Given the description of an element on the screen output the (x, y) to click on. 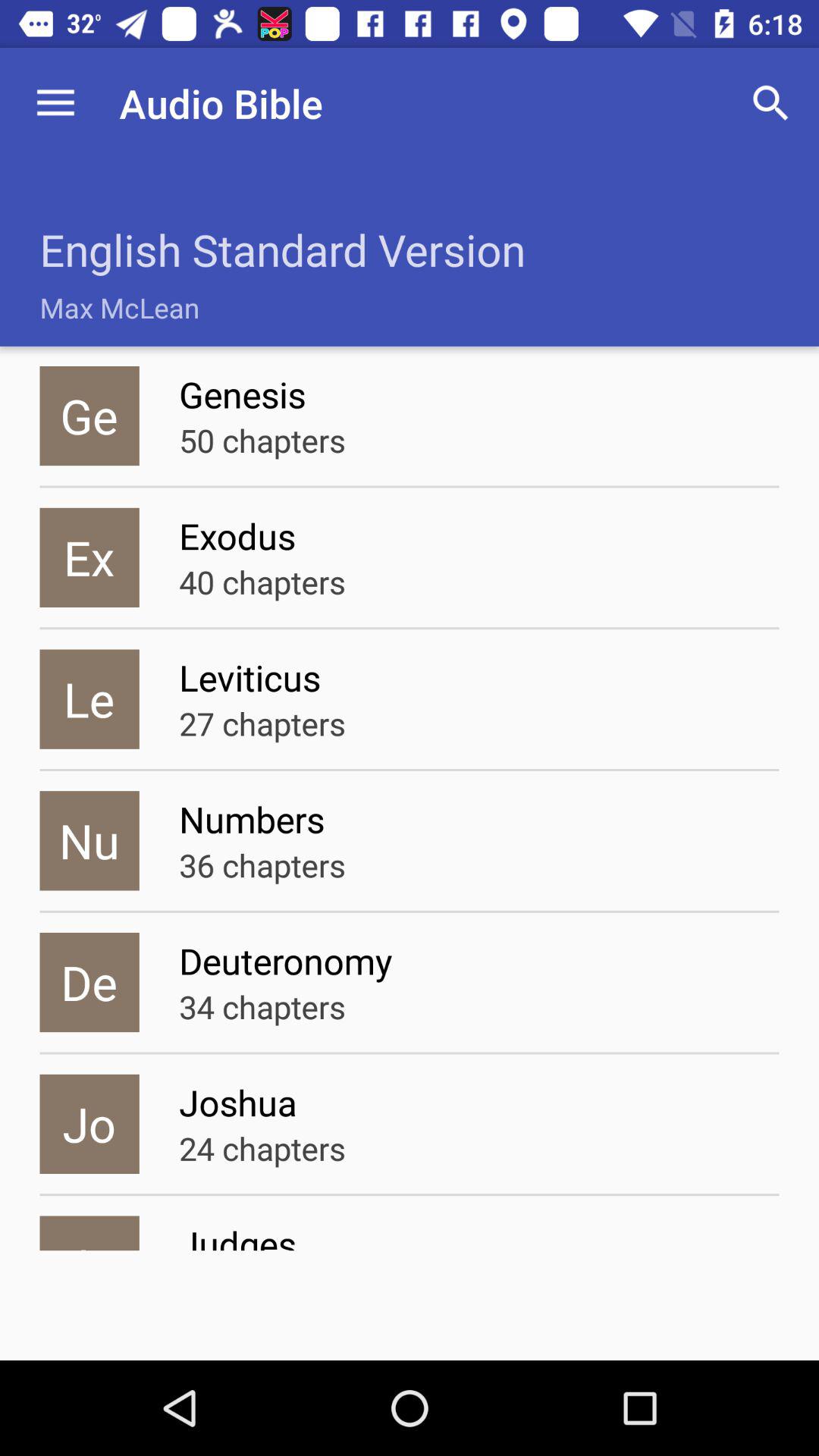
choose the item next to the audio bible (55, 103)
